Given the description of an element on the screen output the (x, y) to click on. 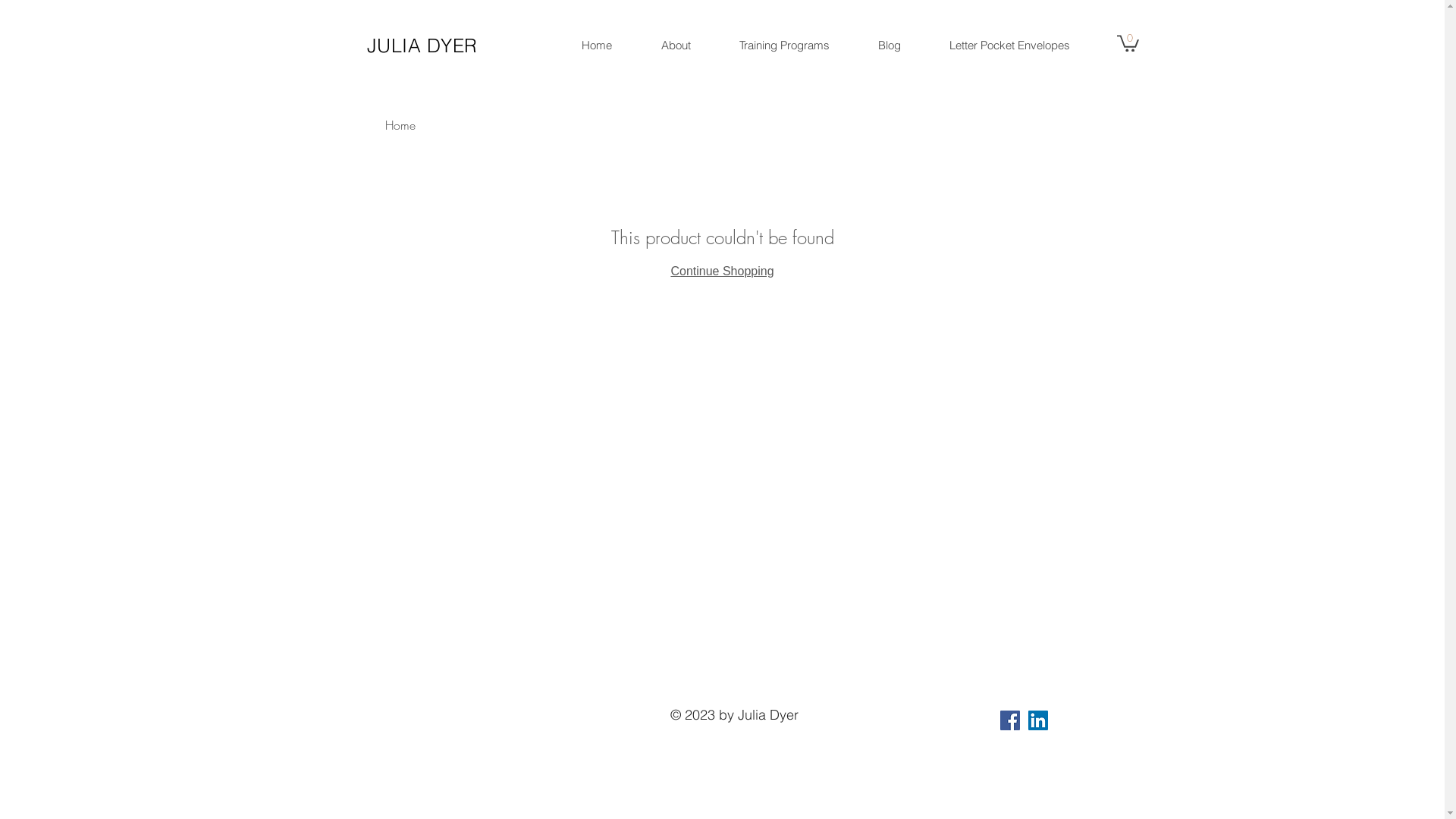
Continue Shopping Element type: text (721, 270)
Blog Element type: text (889, 44)
About Element type: text (674, 44)
Letter Pocket Envelopes Element type: text (1009, 44)
Training Programs Element type: text (783, 44)
Home Element type: text (595, 44)
0 Element type: text (1127, 42)
Home Element type: text (400, 124)
JULIA DYER Element type: text (422, 45)
